Given the description of an element on the screen output the (x, y) to click on. 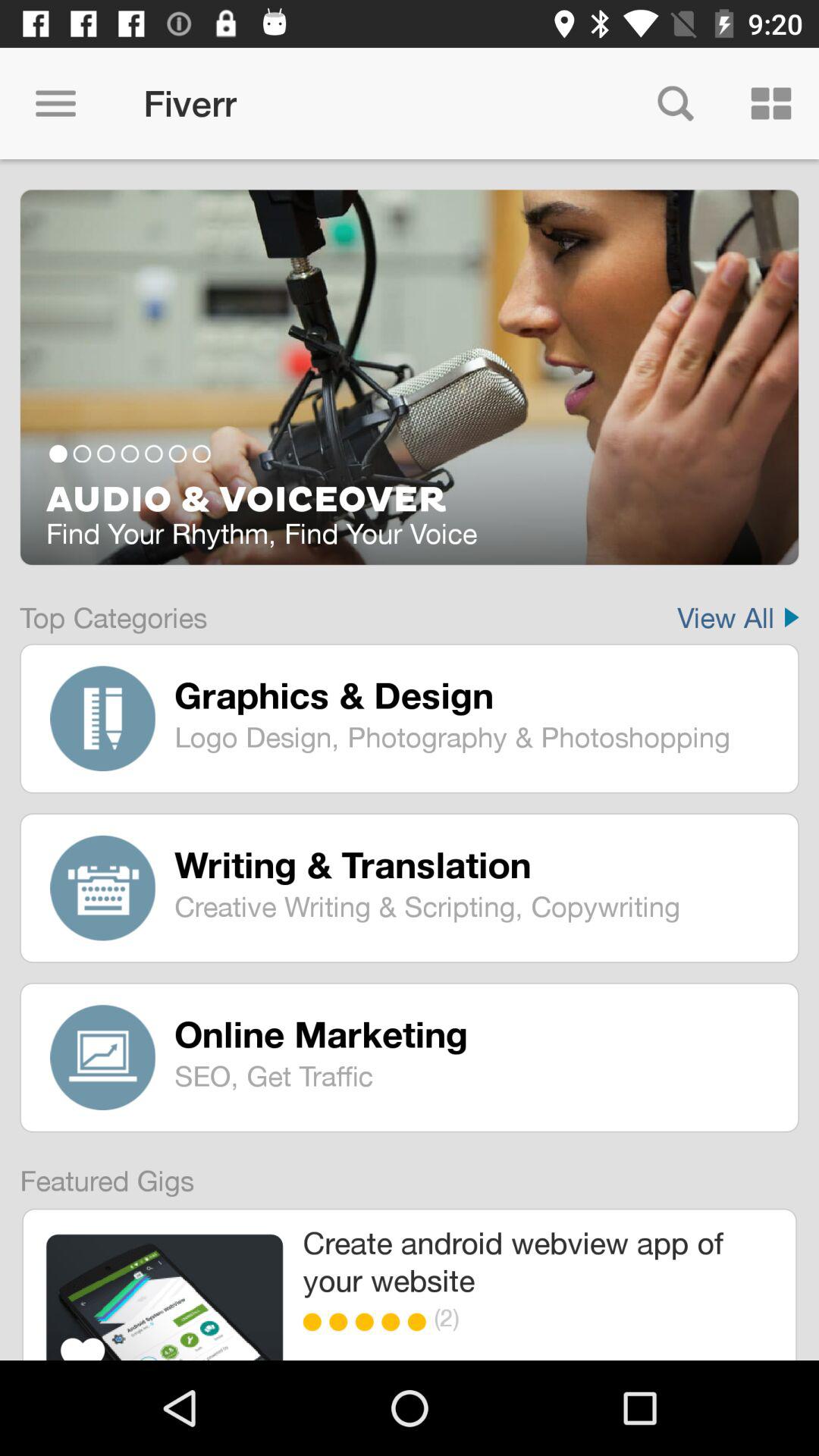
click the online marketing icon (475, 1033)
